Given the description of an element on the screen output the (x, y) to click on. 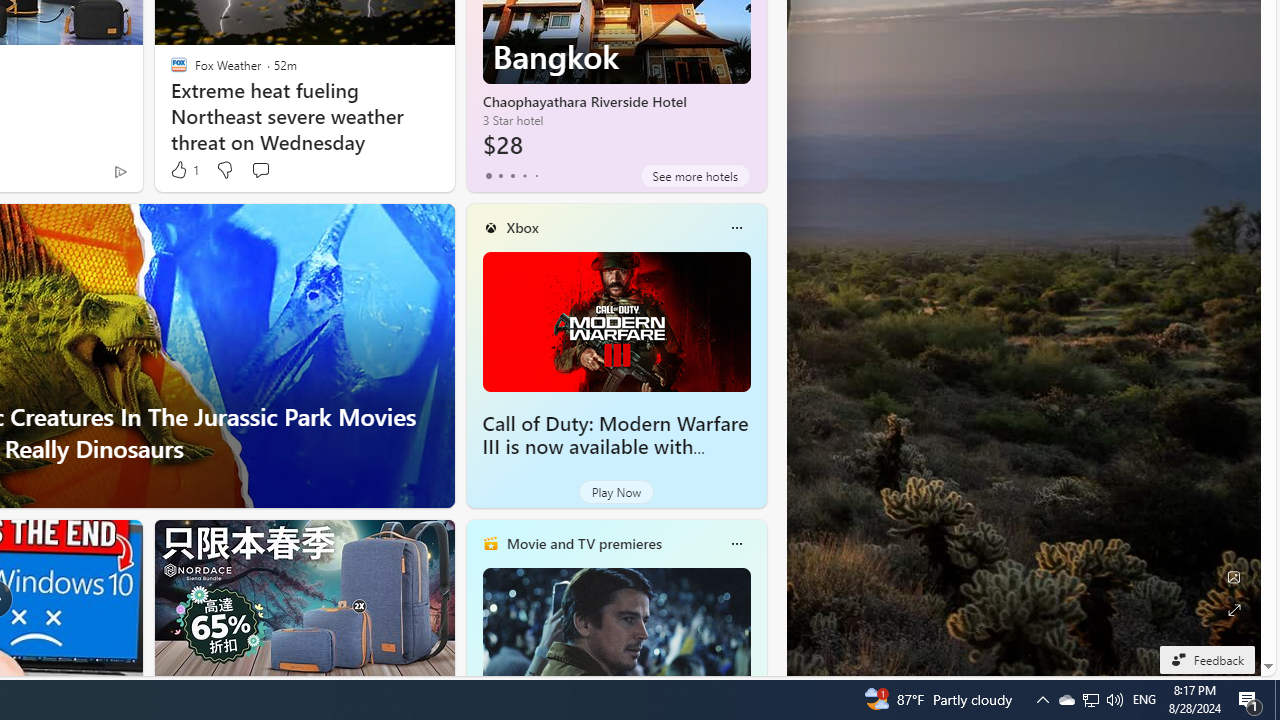
Class: icon-img (736, 543)
tab-2 (511, 175)
tab-3 (524, 175)
1 Like (183, 170)
Dislike (224, 170)
See more hotels (694, 175)
Movie and TV premieres (583, 543)
Play Now (616, 491)
Xbox (521, 227)
